Given the description of an element on the screen output the (x, y) to click on. 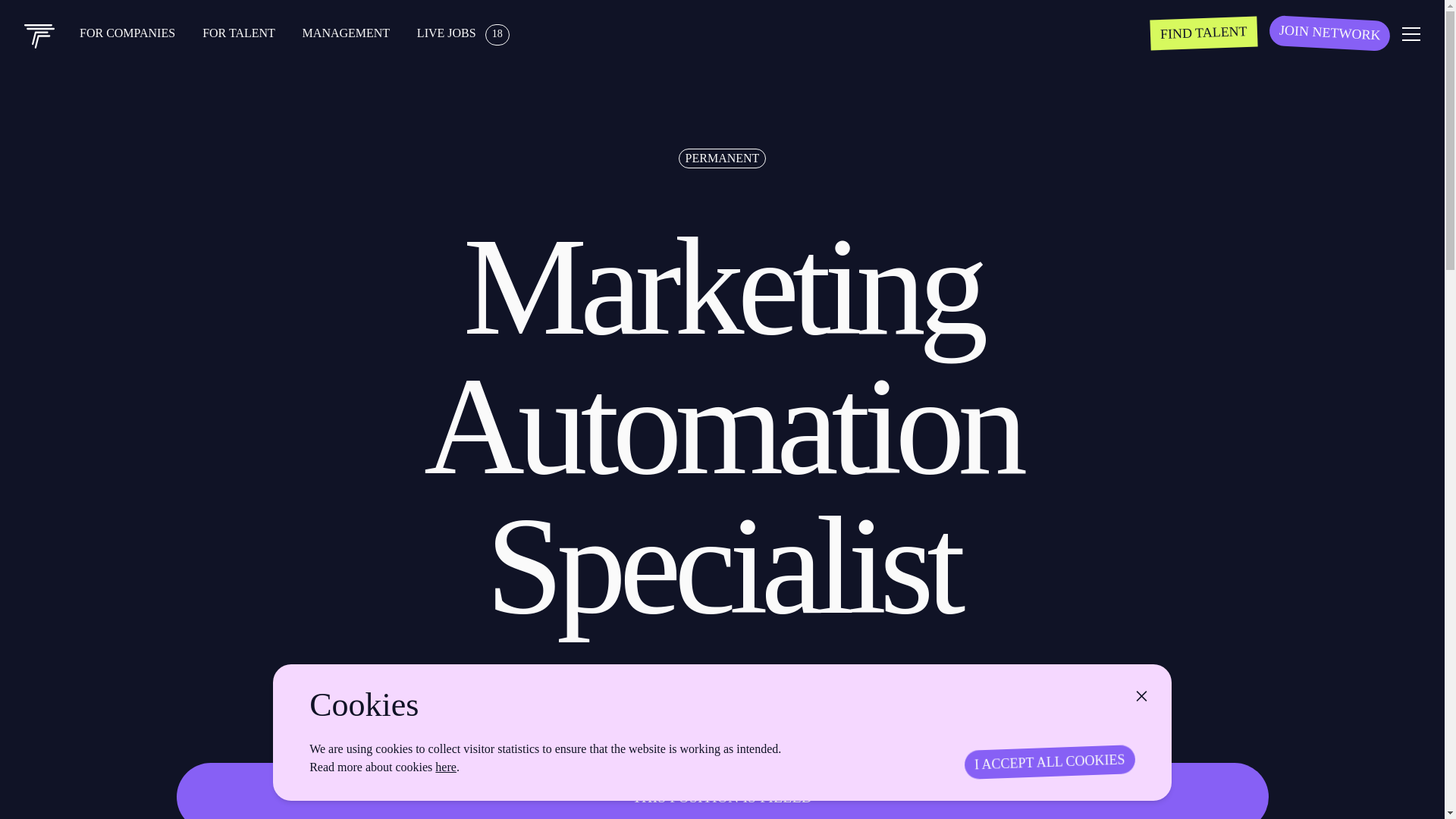
FIND TALENT (1203, 31)
JOIN NETWORK (1328, 30)
FOR COMPANIES (128, 32)
LIVE JOBS 18 (462, 32)
FOR TALENT (240, 32)
MANAGEMENT (347, 32)
THIS POSITION IS FILLED (722, 790)
